Given the description of an element on the screen output the (x, y) to click on. 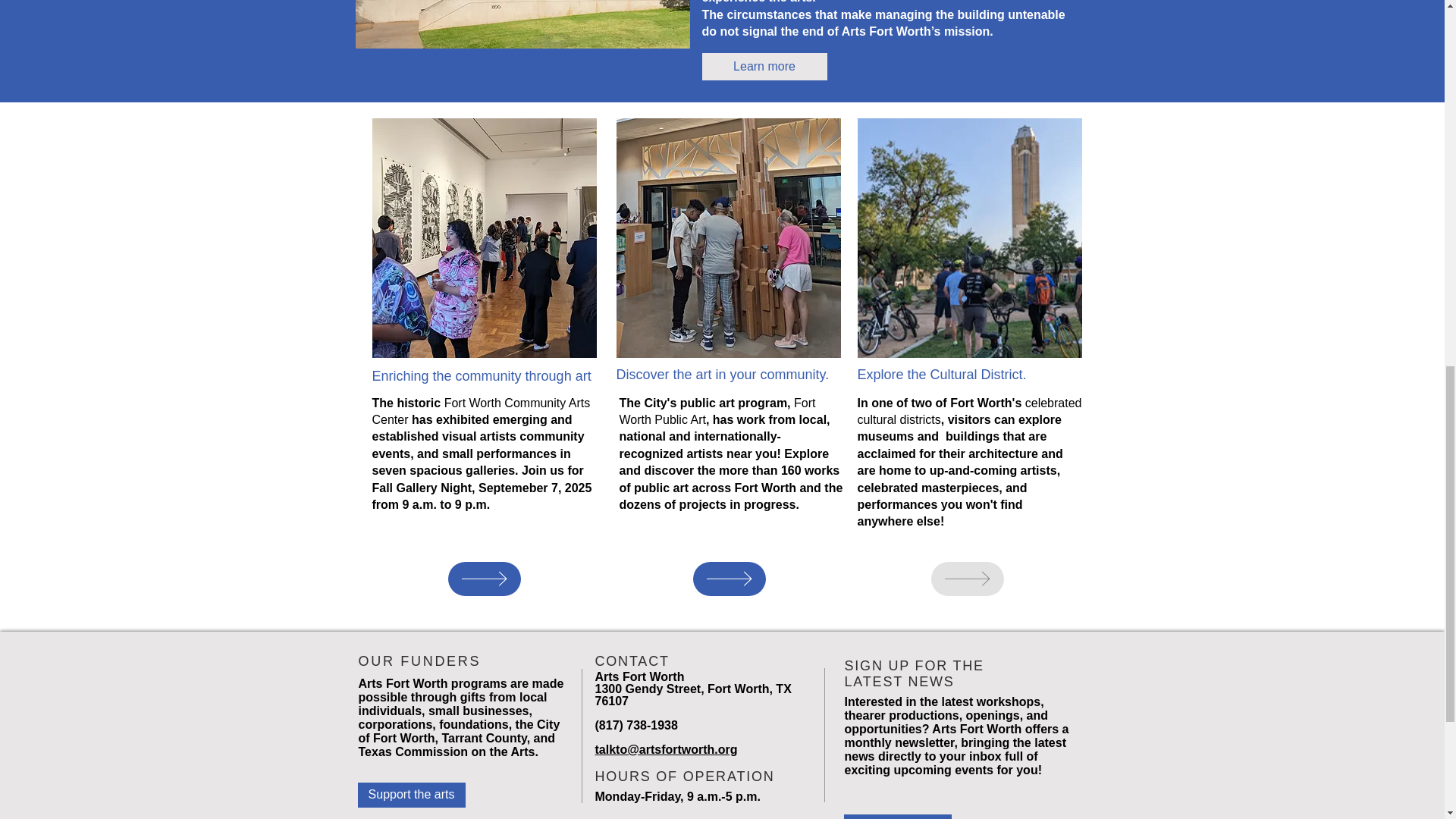
Armando 2.jpg (969, 237)
Armando 2.jpg (483, 237)
Armando 2.jpg (727, 237)
